Given the description of an element on the screen output the (x, y) to click on. 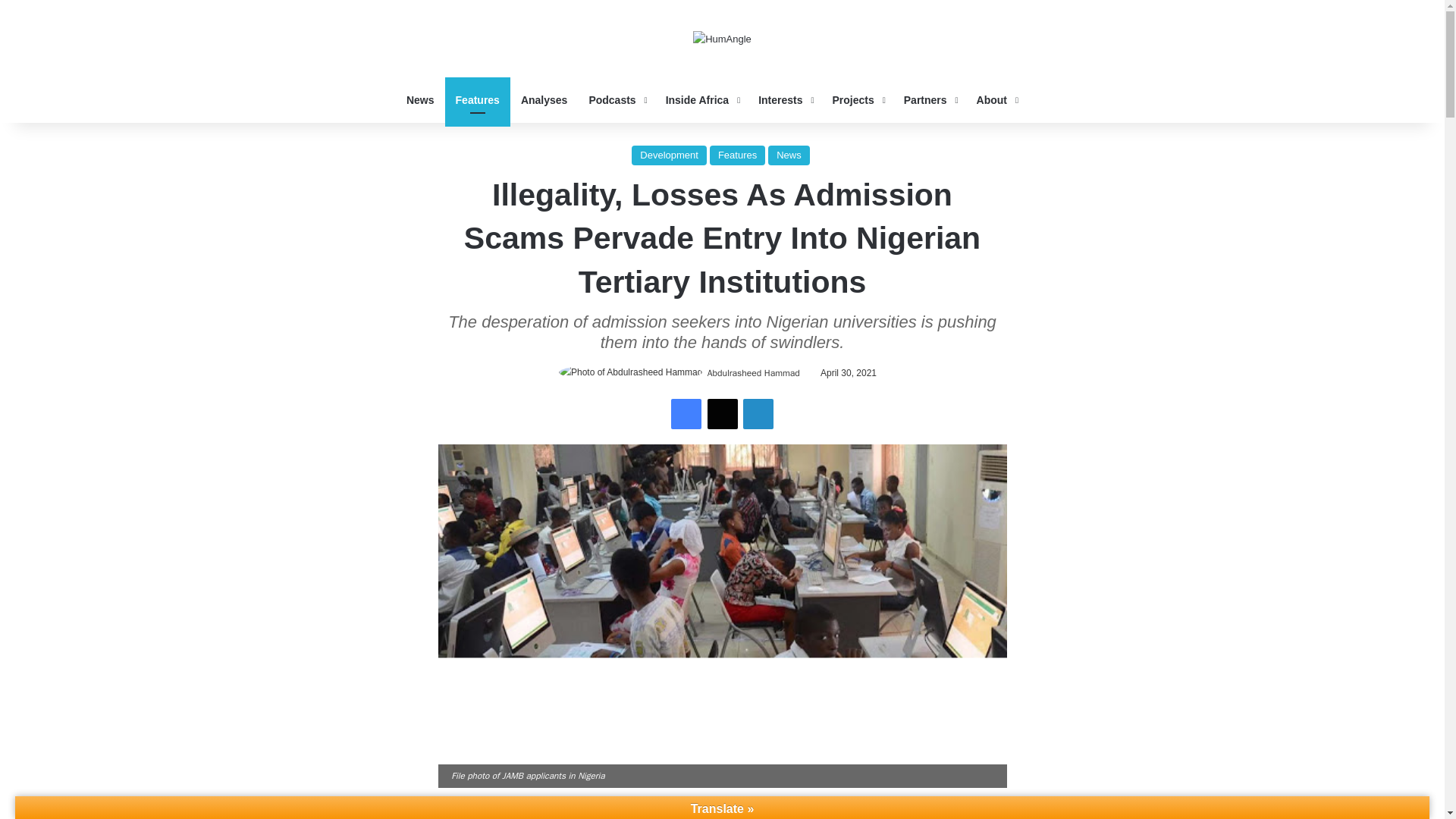
Facebook (686, 413)
Features (478, 99)
Analyses (544, 99)
Abdulrasheed Hammad (753, 372)
LinkedIn (757, 413)
Inside Africa (701, 99)
Podcasts (615, 99)
Interests (784, 99)
News (420, 99)
X (721, 413)
HumAngle (722, 38)
